Given the description of an element on the screen output the (x, y) to click on. 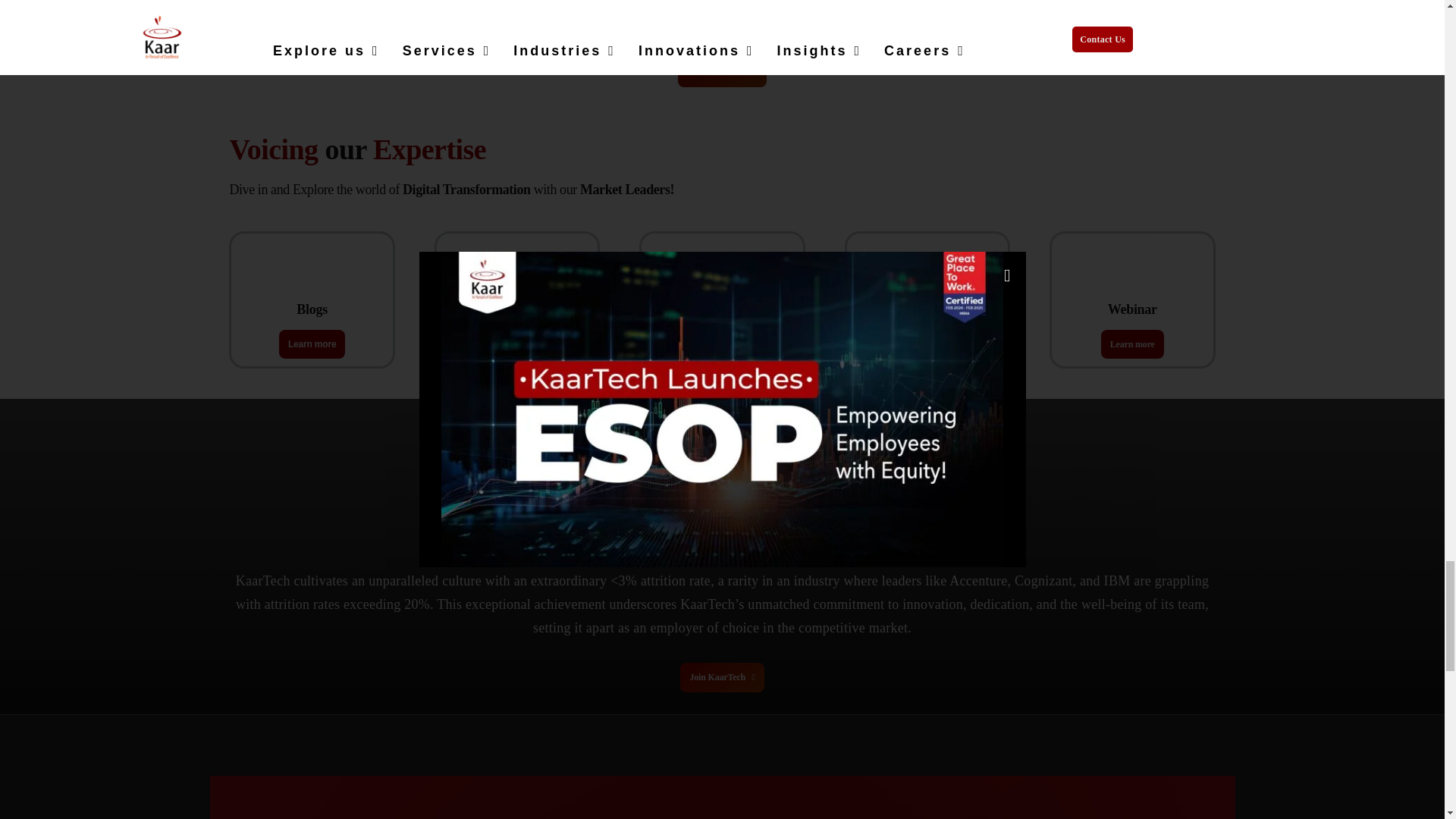
Kaar Case Study (721, 278)
blogs-1 (312, 275)
Kaar Newsroom (927, 278)
web (1131, 278)
32-Blog (517, 278)
